Given the description of an element on the screen output the (x, y) to click on. 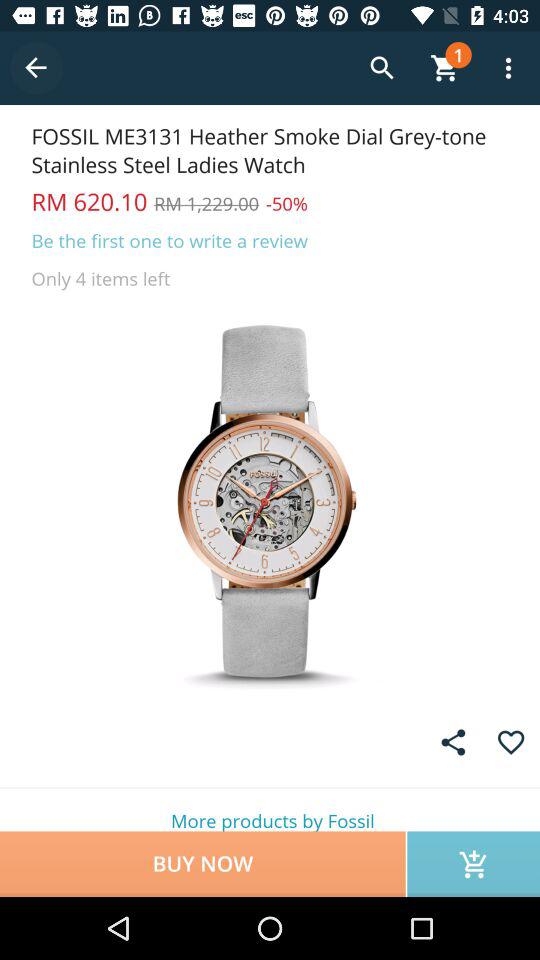
launch icon above the more products by (453, 742)
